Given the description of an element on the screen output the (x, y) to click on. 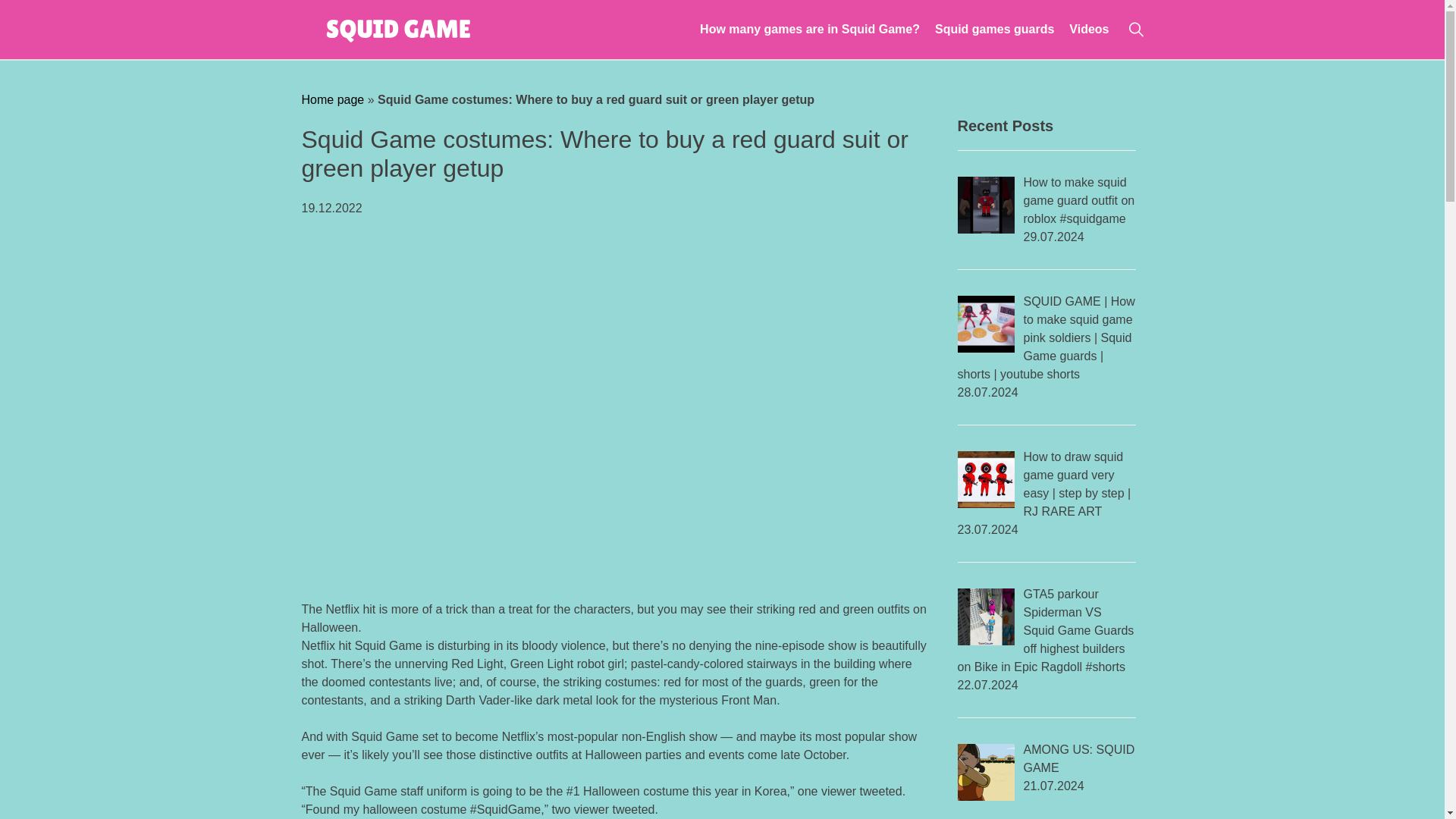
AMONG US: SQUID GAME (1079, 757)
How many games are in Squid Game? (810, 29)
Home page (333, 99)
Videos (1088, 29)
Squid games guards (994, 29)
